Given the description of an element on the screen output the (x, y) to click on. 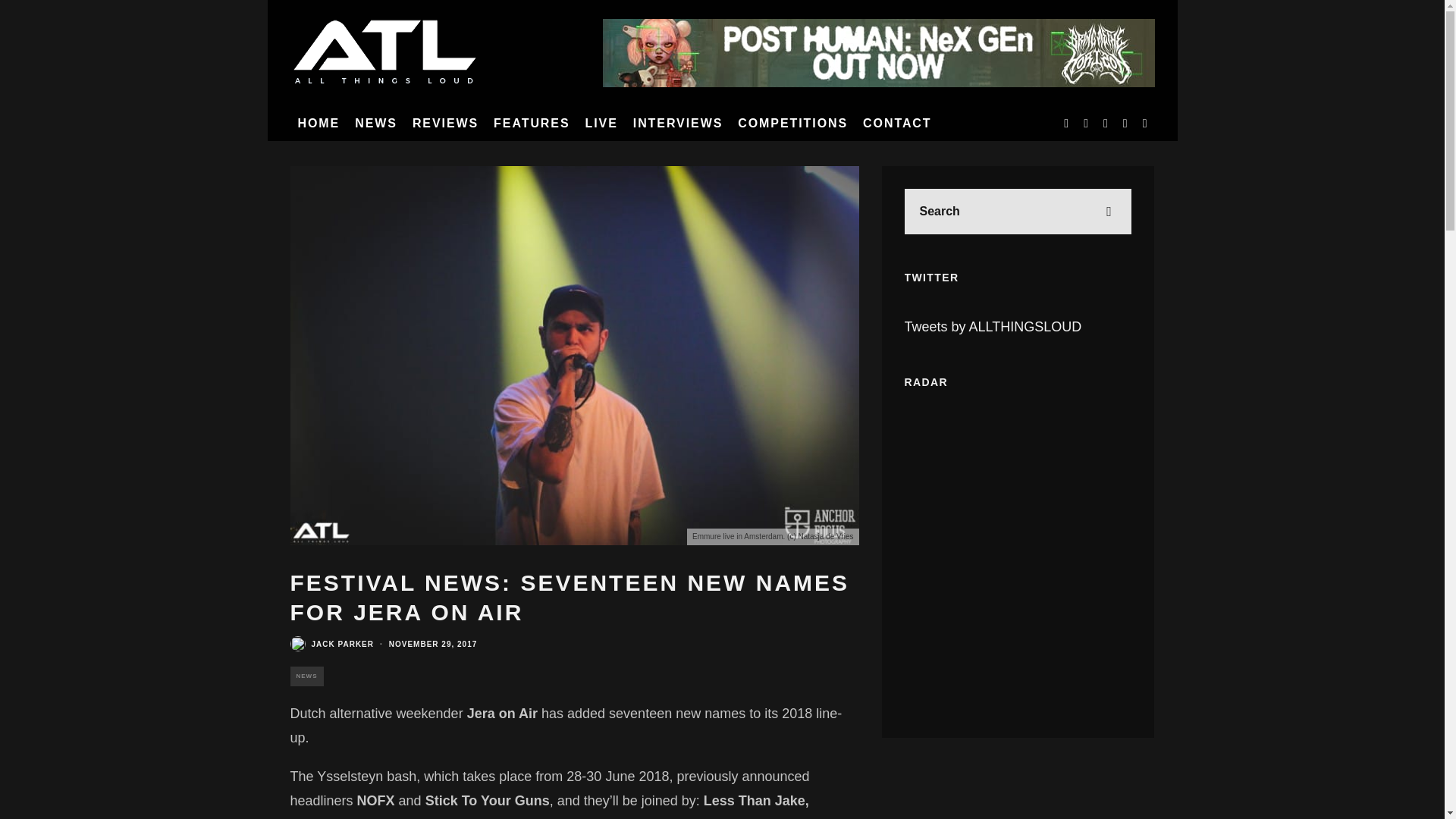
LIVE (602, 123)
FEATURES (531, 123)
NEWS (375, 123)
HOME (318, 123)
REVIEWS (445, 123)
